Given the description of an element on the screen output the (x, y) to click on. 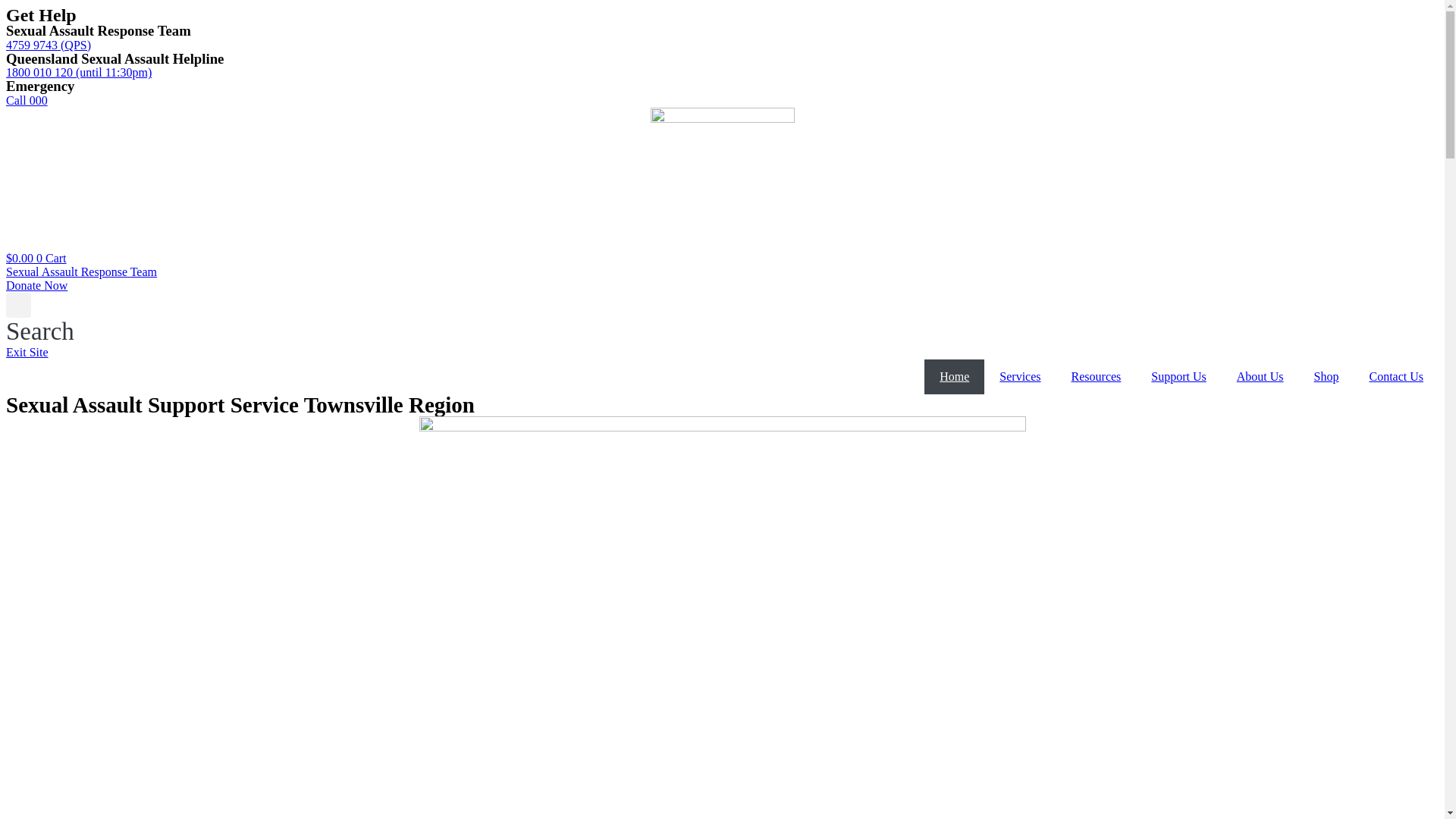
Contact Us Element type: text (1395, 376)
Support Us Element type: text (1177, 376)
Call 000 Element type: text (26, 100)
Resources Element type: text (1096, 376)
Skip to content Element type: text (5, 5)
Donate Now Element type: text (36, 285)
Services Element type: text (1019, 376)
$0.00 0 Cart Element type: text (36, 257)
Home Element type: text (954, 376)
Exit Site Element type: text (27, 351)
About Us Element type: text (1260, 376)
Sexual Assault Response Team Element type: text (81, 271)
Shop Element type: text (1326, 376)
1800 010 120 (until 11:30pm) Element type: text (78, 71)
4759 9743 (QPS) Element type: text (48, 44)
